Given the description of an element on the screen output the (x, y) to click on. 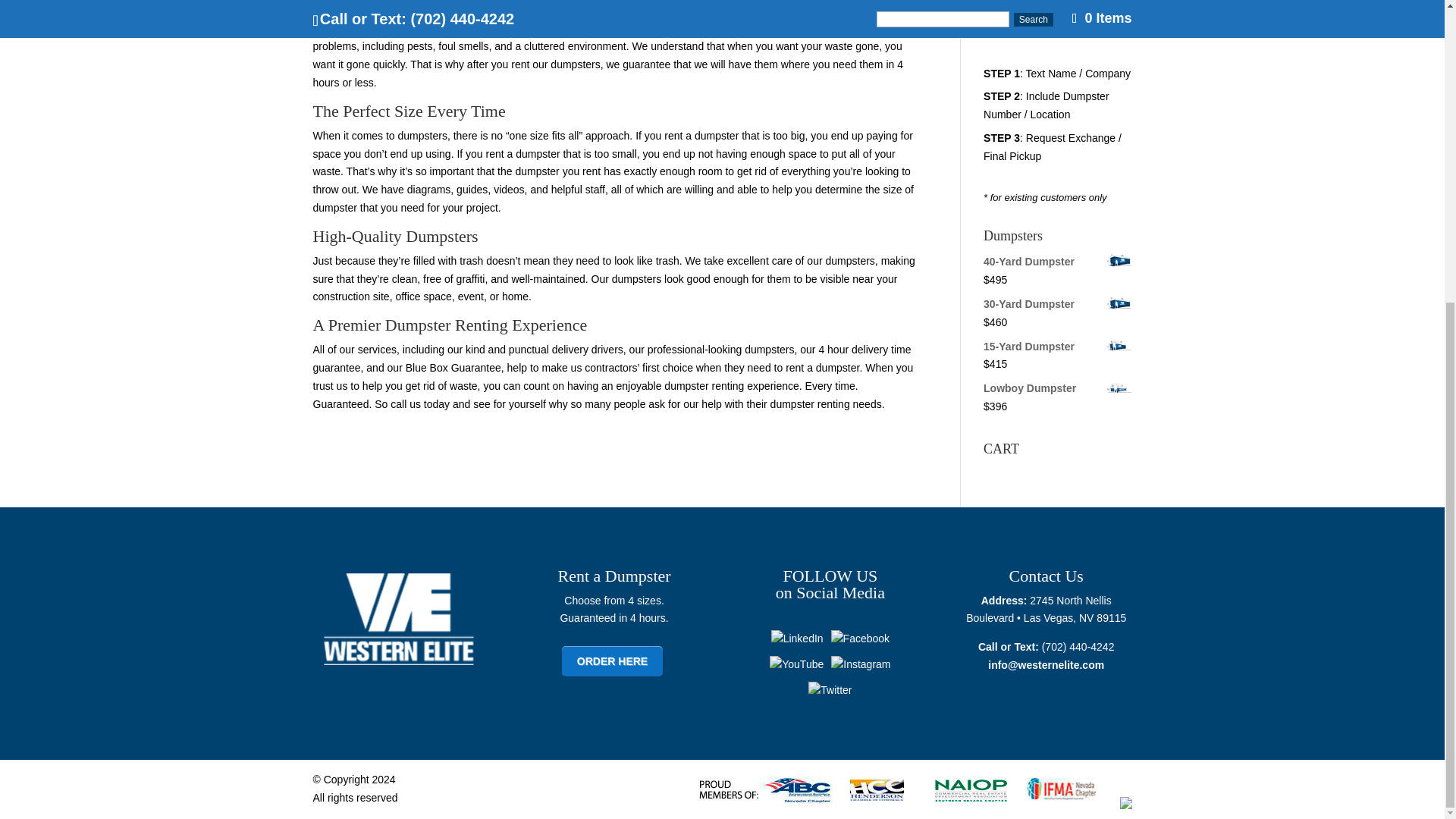
Lowboy Dumpster (1057, 389)
30-Yard Dumpster (1057, 304)
15-Yard Dumpster (1057, 347)
40-Yard Dumpster (1057, 262)
